Given the description of an element on the screen output the (x, y) to click on. 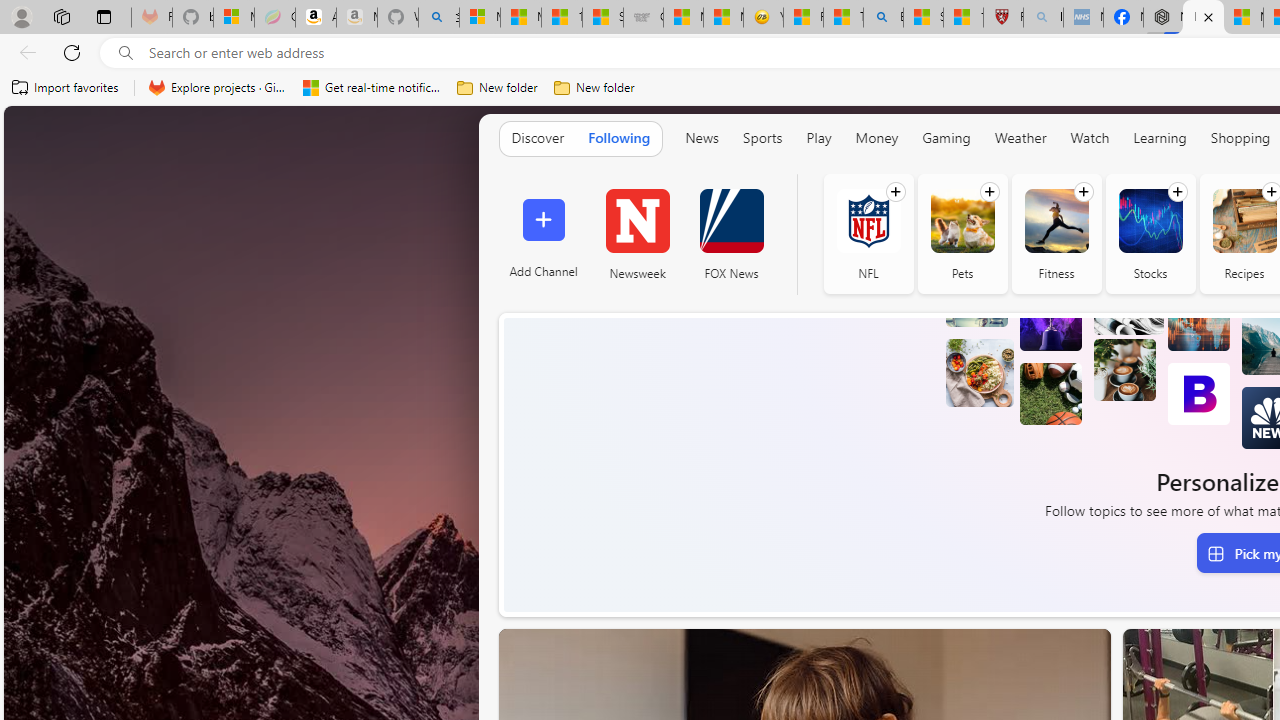
Newsweek (637, 220)
FOX News (731, 233)
Newsweek (637, 233)
